Given the description of an element on the screen output the (x, y) to click on. 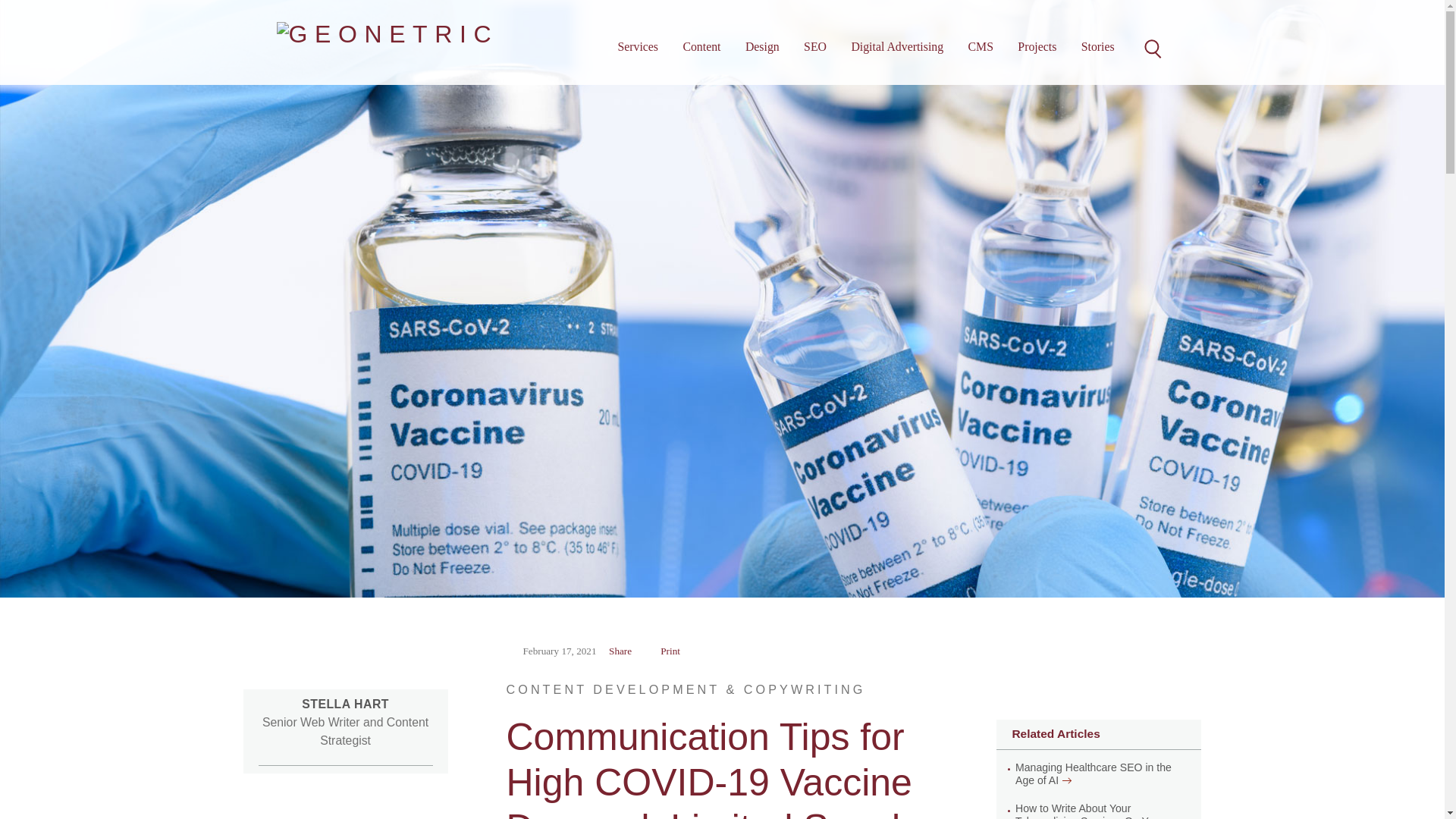
Search (1151, 47)
Print (679, 650)
Share (629, 650)
Services (637, 46)
Managing Healthcare SEO in the Age of AI (1100, 774)
Content (701, 46)
Digital Advertising (896, 46)
Projects (1036, 46)
Search (1151, 47)
